Given the description of an element on the screen output the (x, y) to click on. 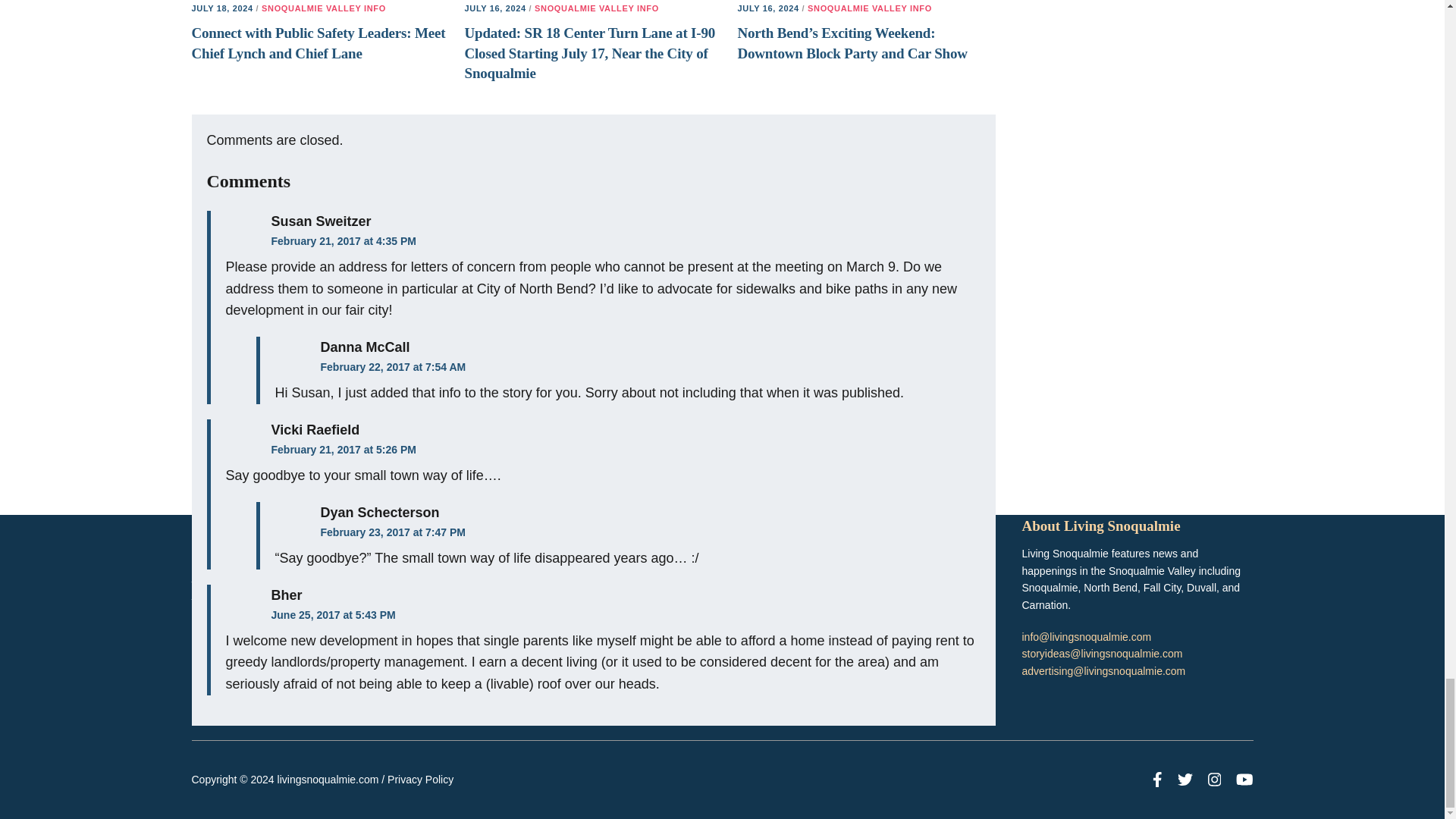
SNOQUALMIE VALLEY INFO (323, 8)
